Given the description of an element on the screen output the (x, y) to click on. 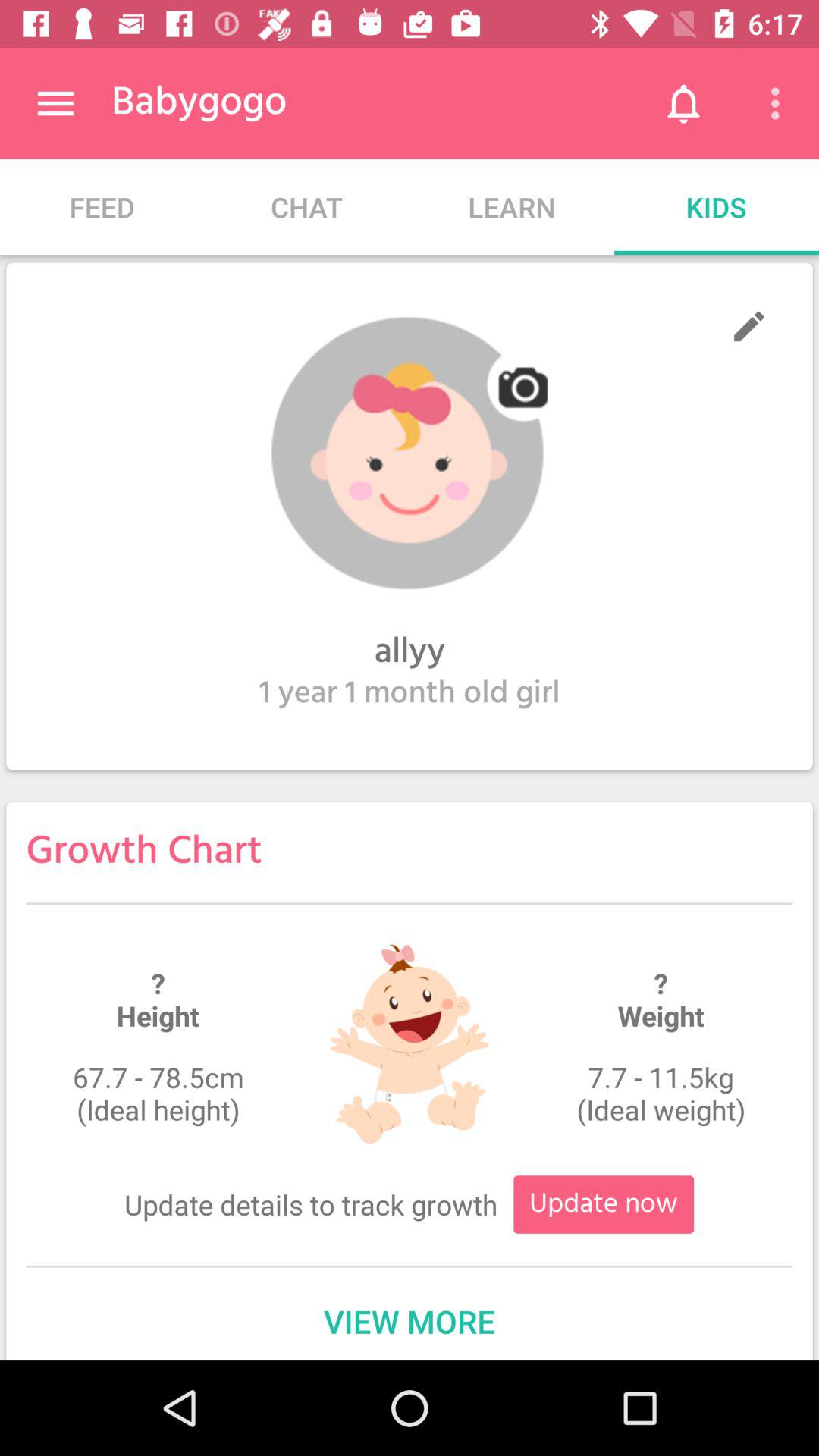
add profile picture (409, 453)
